Given the description of an element on the screen output the (x, y) to click on. 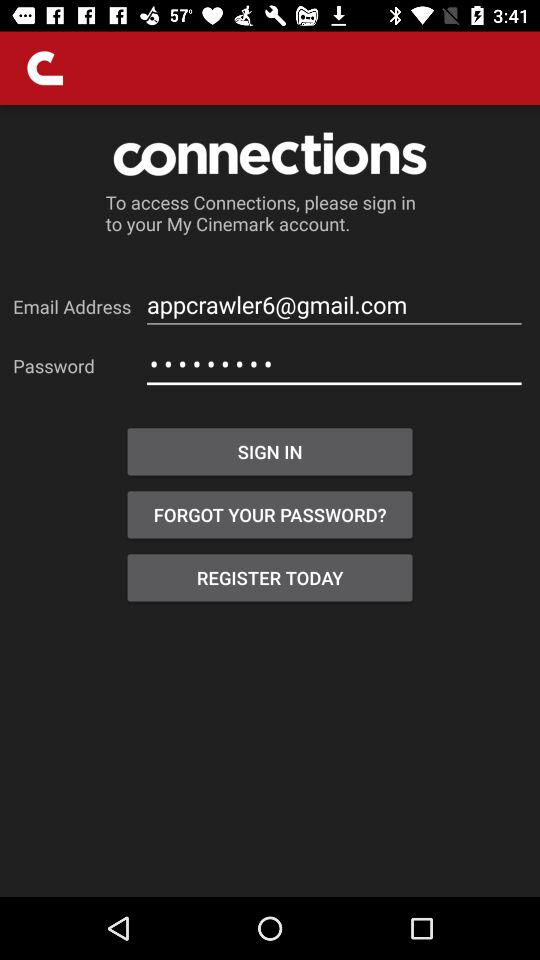
turn on item to the right of the password item (333, 364)
